Given the description of an element on the screen output the (x, y) to click on. 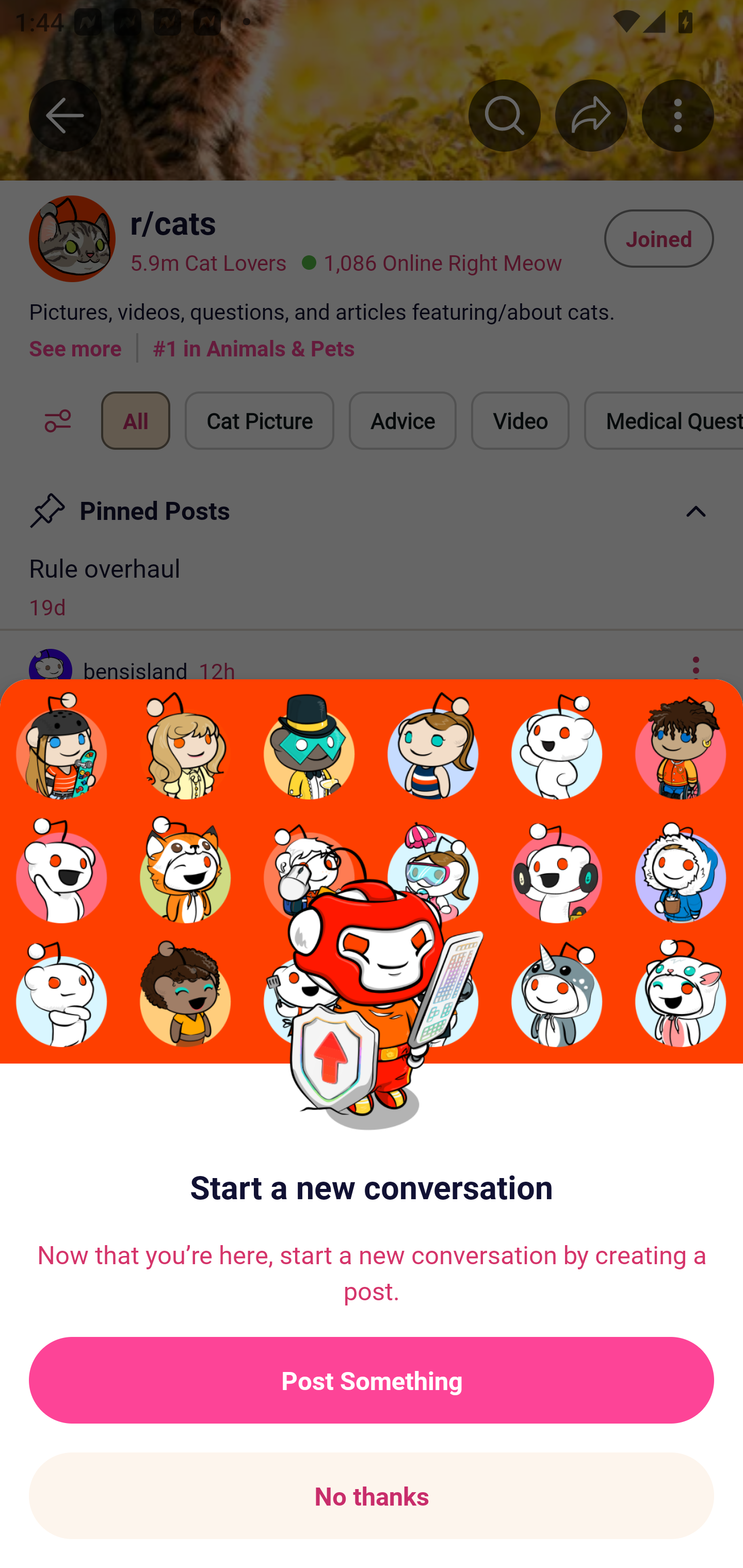
Post Something (371, 1380)
No thanks (371, 1495)
